Given the description of an element on the screen output the (x, y) to click on. 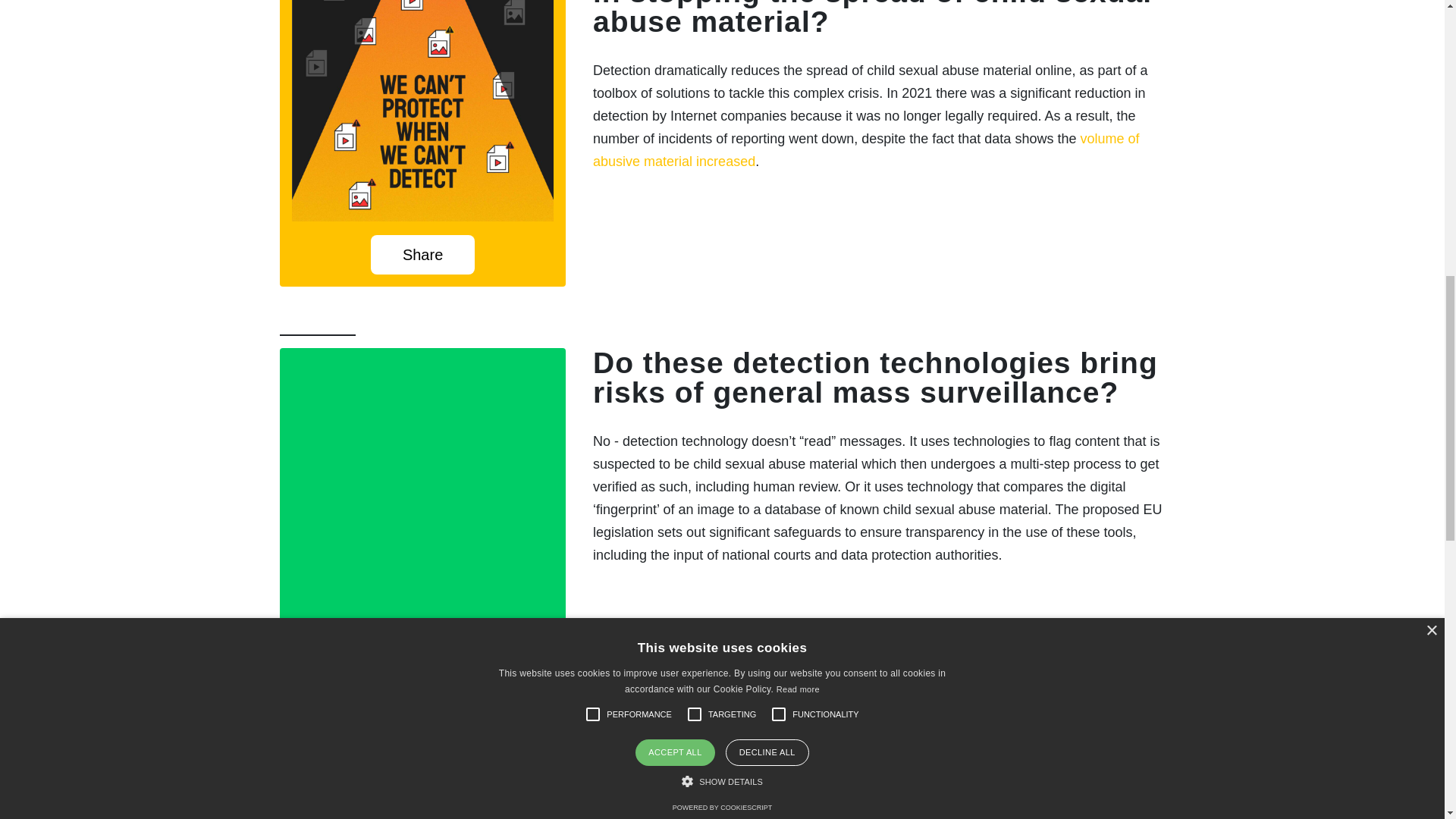
Share (423, 254)
Share (423, 654)
volume of abusive material increased (865, 149)
